Given the description of an element on the screen output the (x, y) to click on. 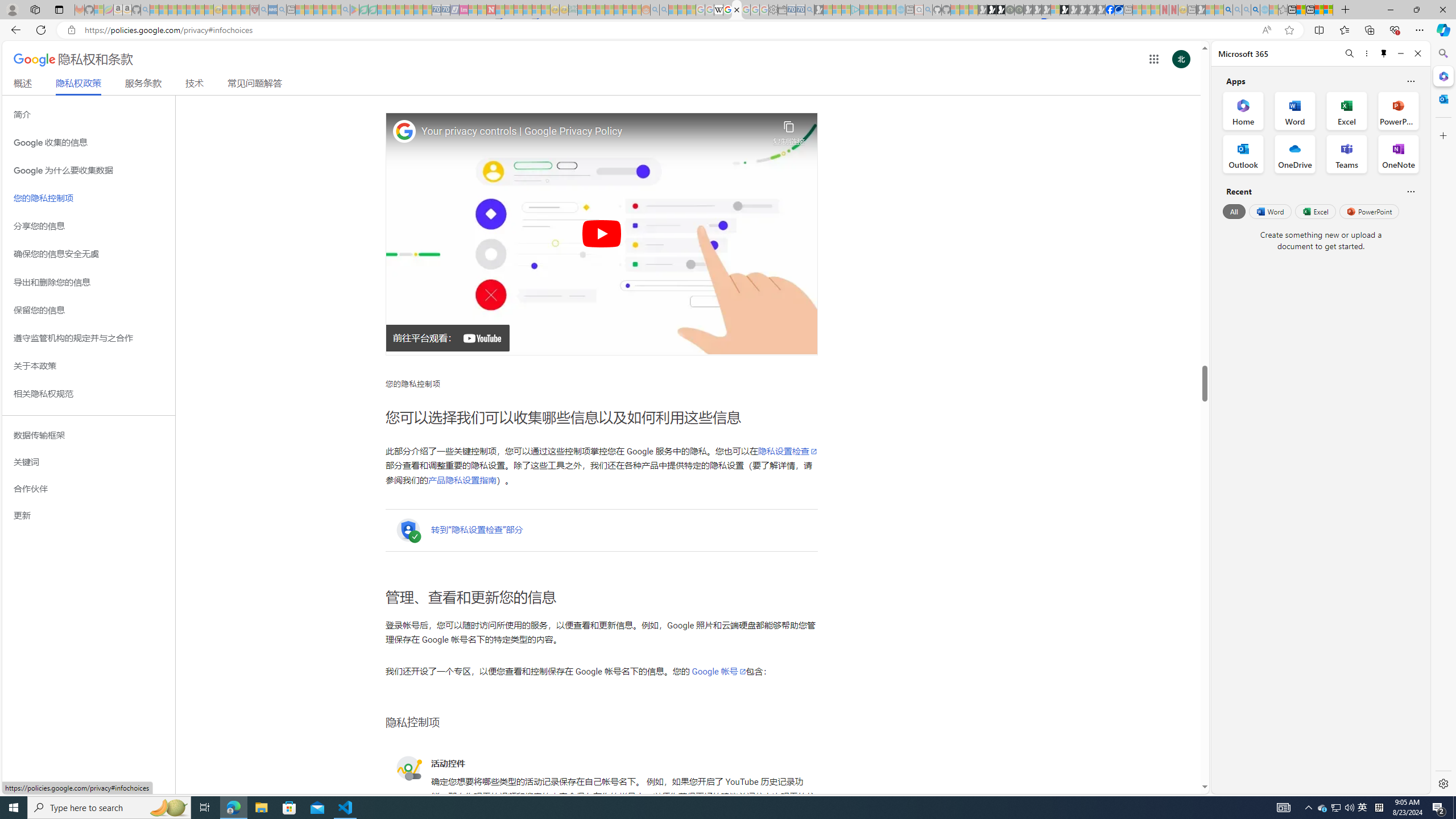
Privacy Help Center - Policies Help (726, 9)
OneDrive Office App (1295, 154)
Future Focus Report 2024 - Sleeping (1018, 9)
